Given the description of an element on the screen output the (x, y) to click on. 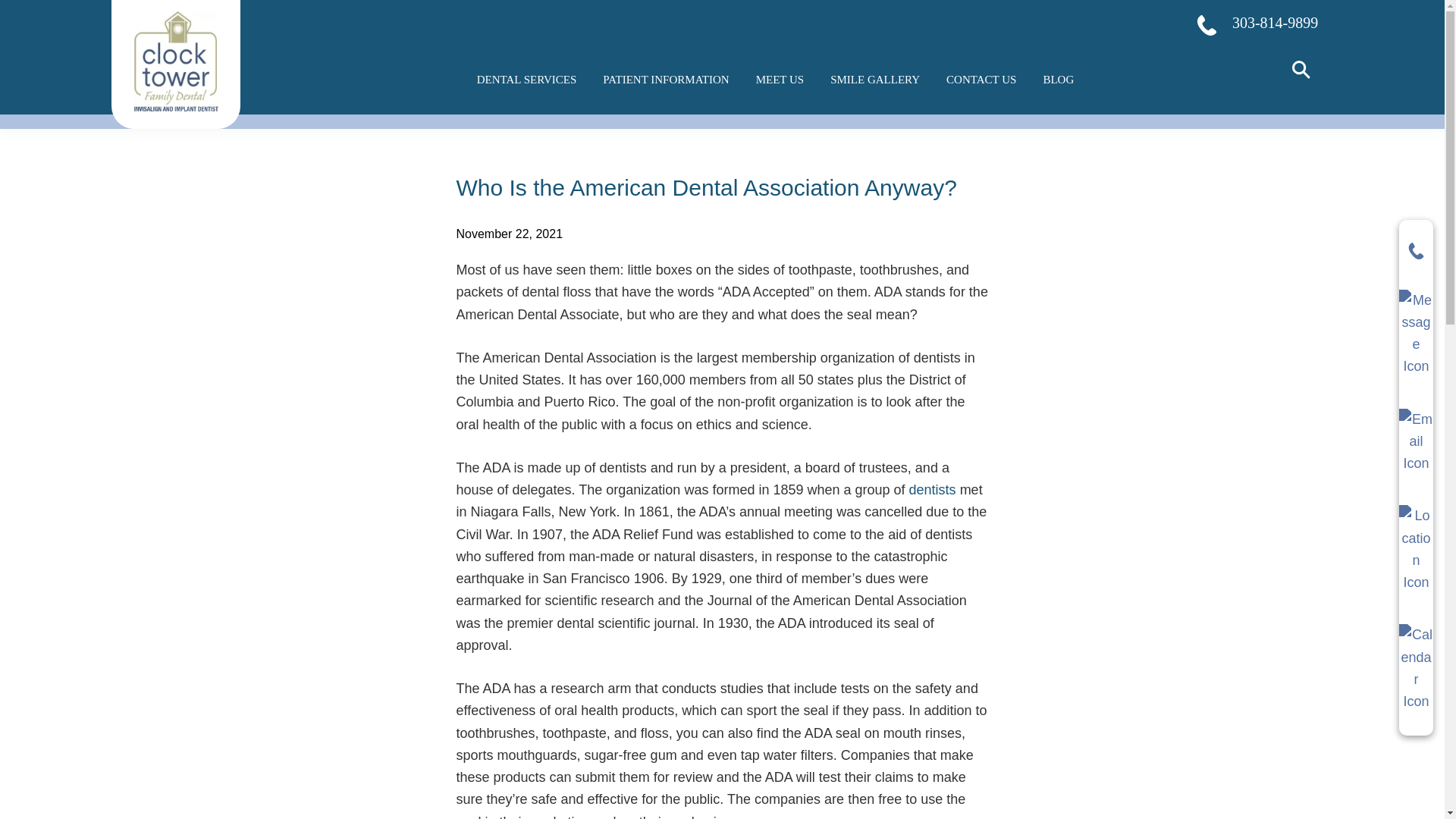
DENTAL SERVICES (526, 79)
